Given the description of an element on the screen output the (x, y) to click on. 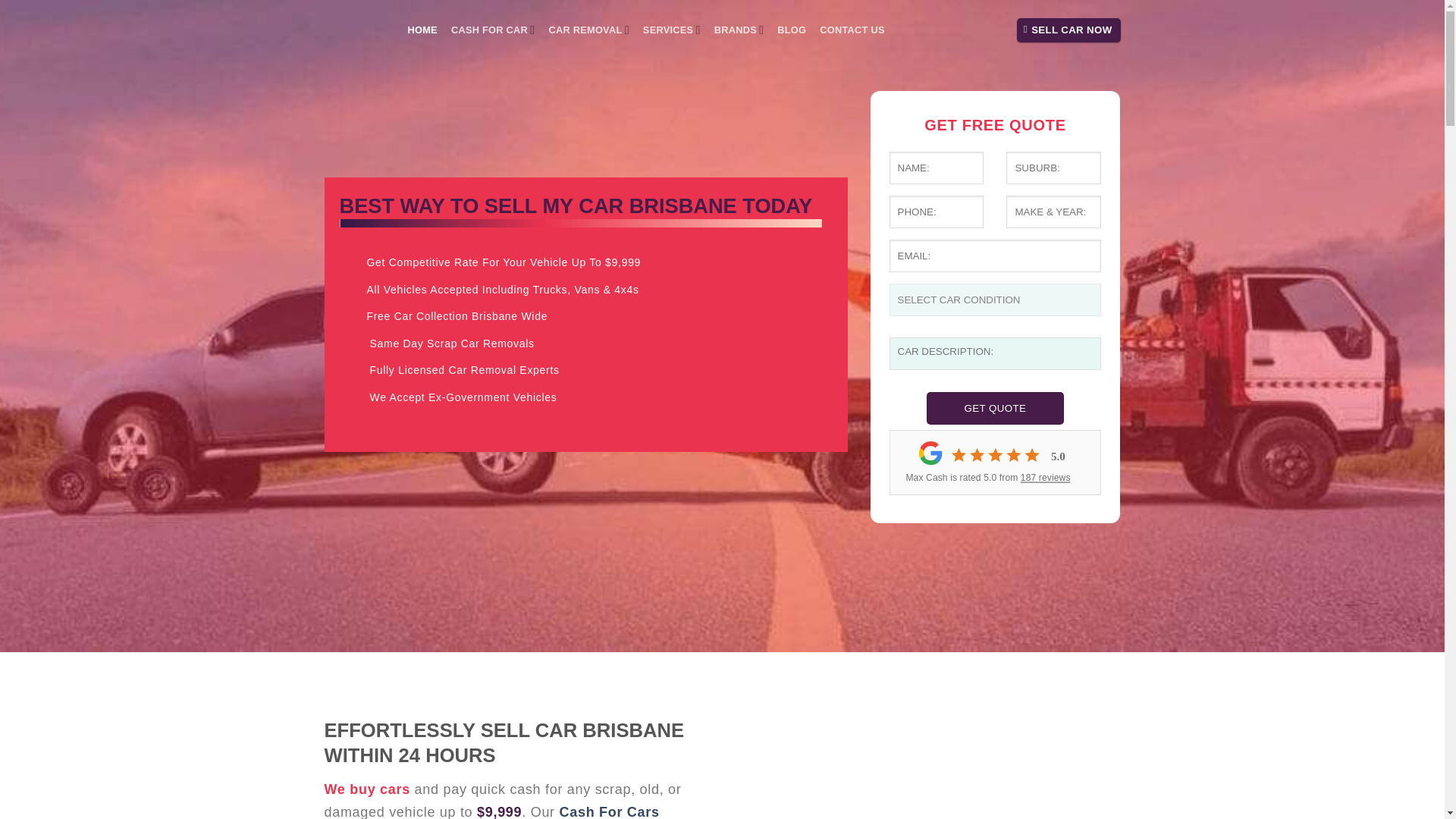
HOME (422, 30)
GET QUOTE (995, 408)
CASH FOR CAR (492, 30)
